Given the description of an element on the screen output the (x, y) to click on. 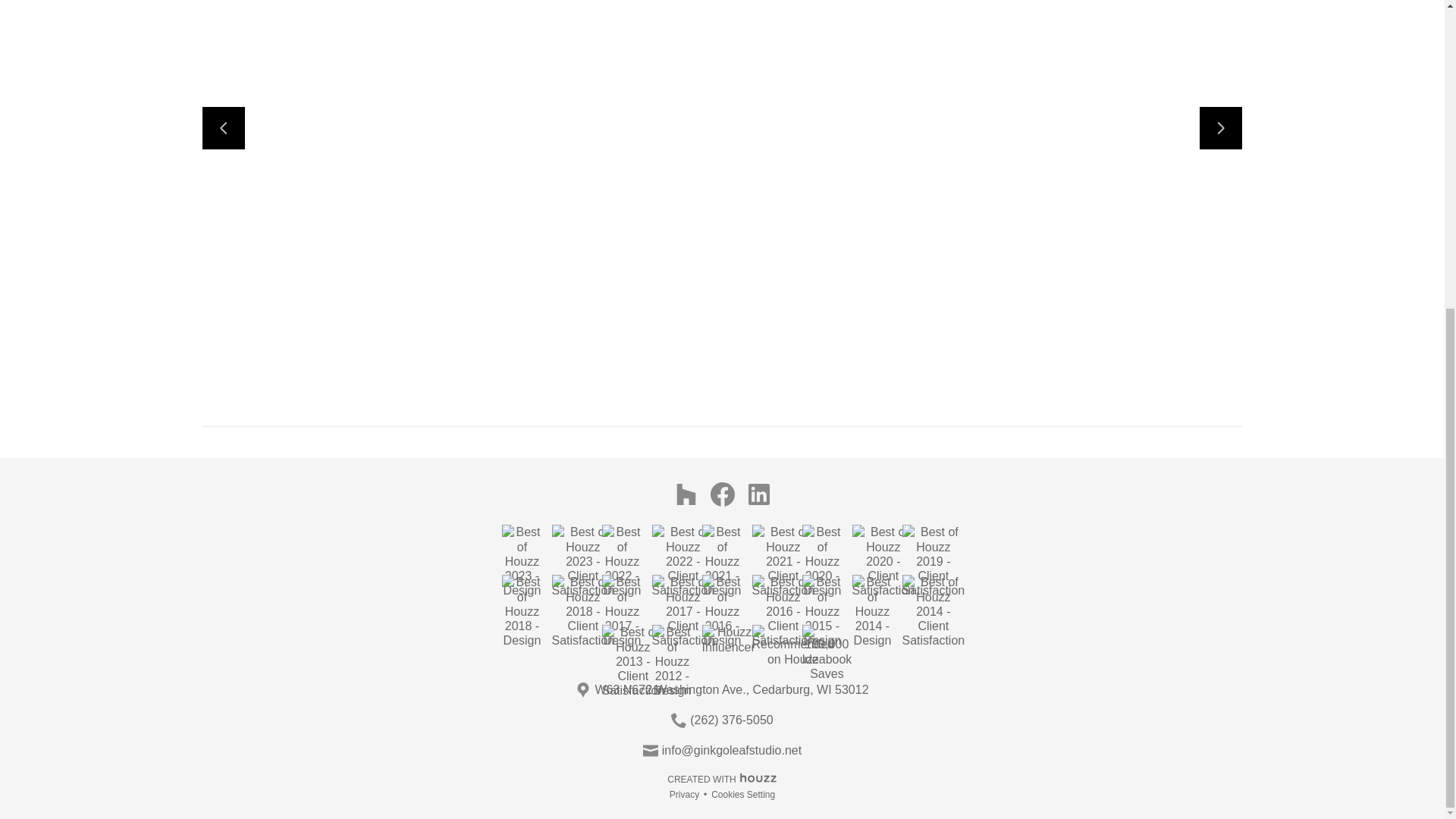
CREATED WITHHouzz (722, 777)
Houzz (758, 776)
Privacy (683, 794)
Cookies Setting (742, 794)
W63 N672 Washington Ave., Cedarburg, WI 53012 (730, 689)
